Given the description of an element on the screen output the (x, y) to click on. 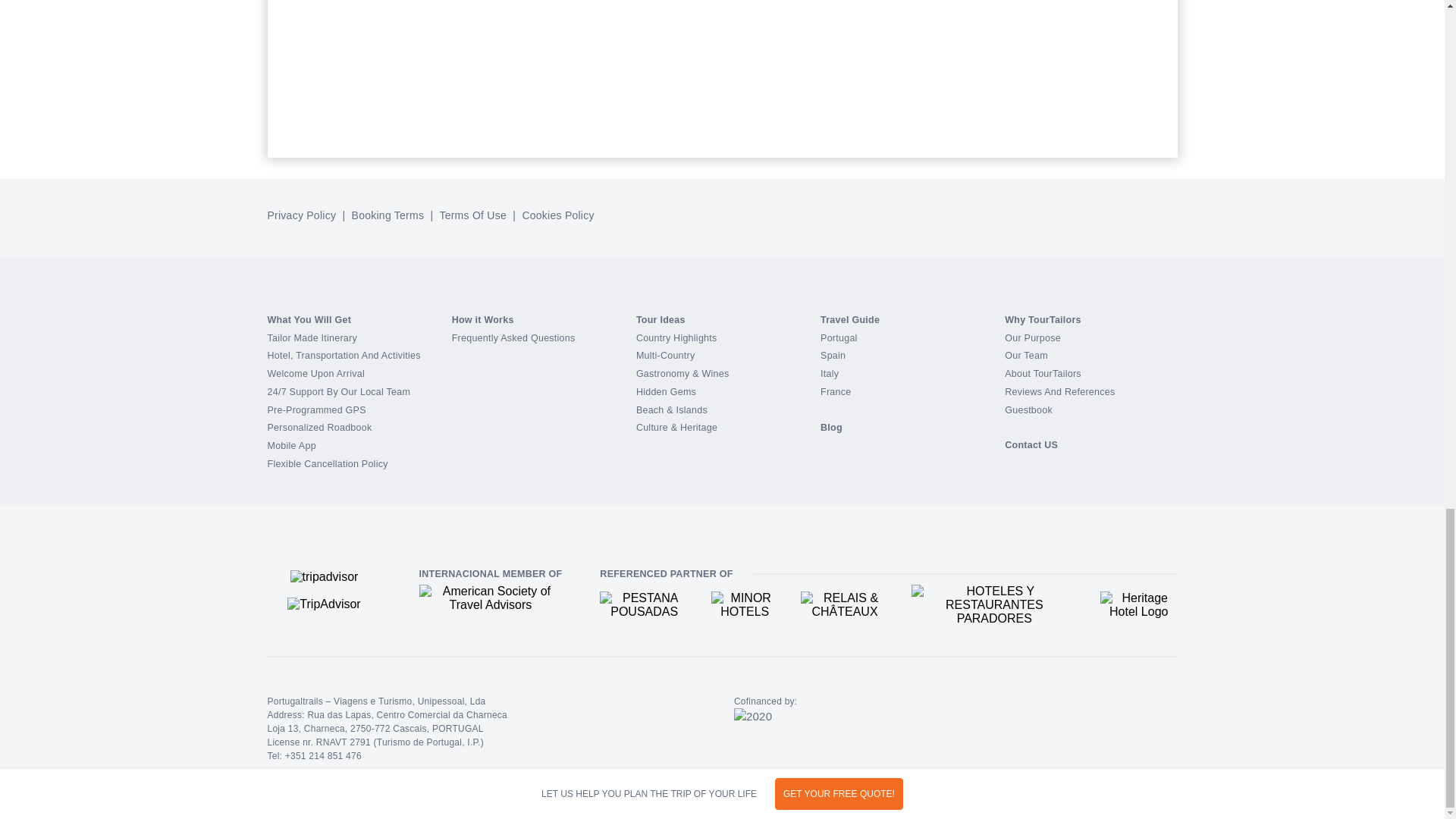
Heritage Hotel (1138, 605)
Personalized Roadbook (318, 427)
Terms Of Use (471, 215)
Booking Terms (388, 215)
Welcome Upon Arrival (315, 373)
What You Will Get (308, 319)
2020 (752, 716)
Privacy Policy  (302, 215)
Tailor Made Itinerary (311, 337)
Pre-Programmed GPS (315, 409)
Cookies Policy (557, 215)
Hotel, Transportation And Activities (343, 355)
